Given the description of an element on the screen output the (x, y) to click on. 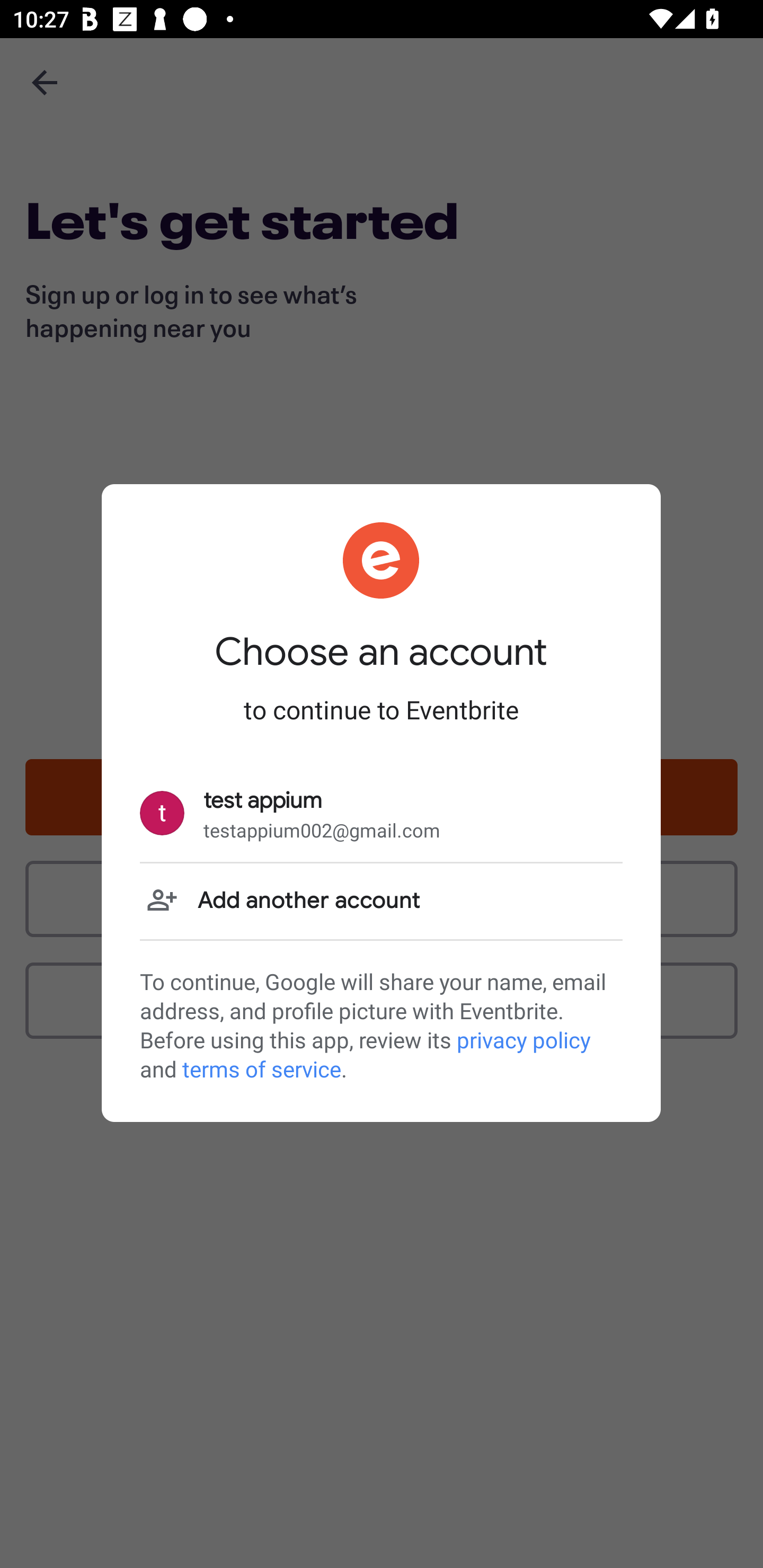
test appium testappium002@gmail.com (380, 813)
Add another account (380, 900)
